Given the description of an element on the screen output the (x, y) to click on. 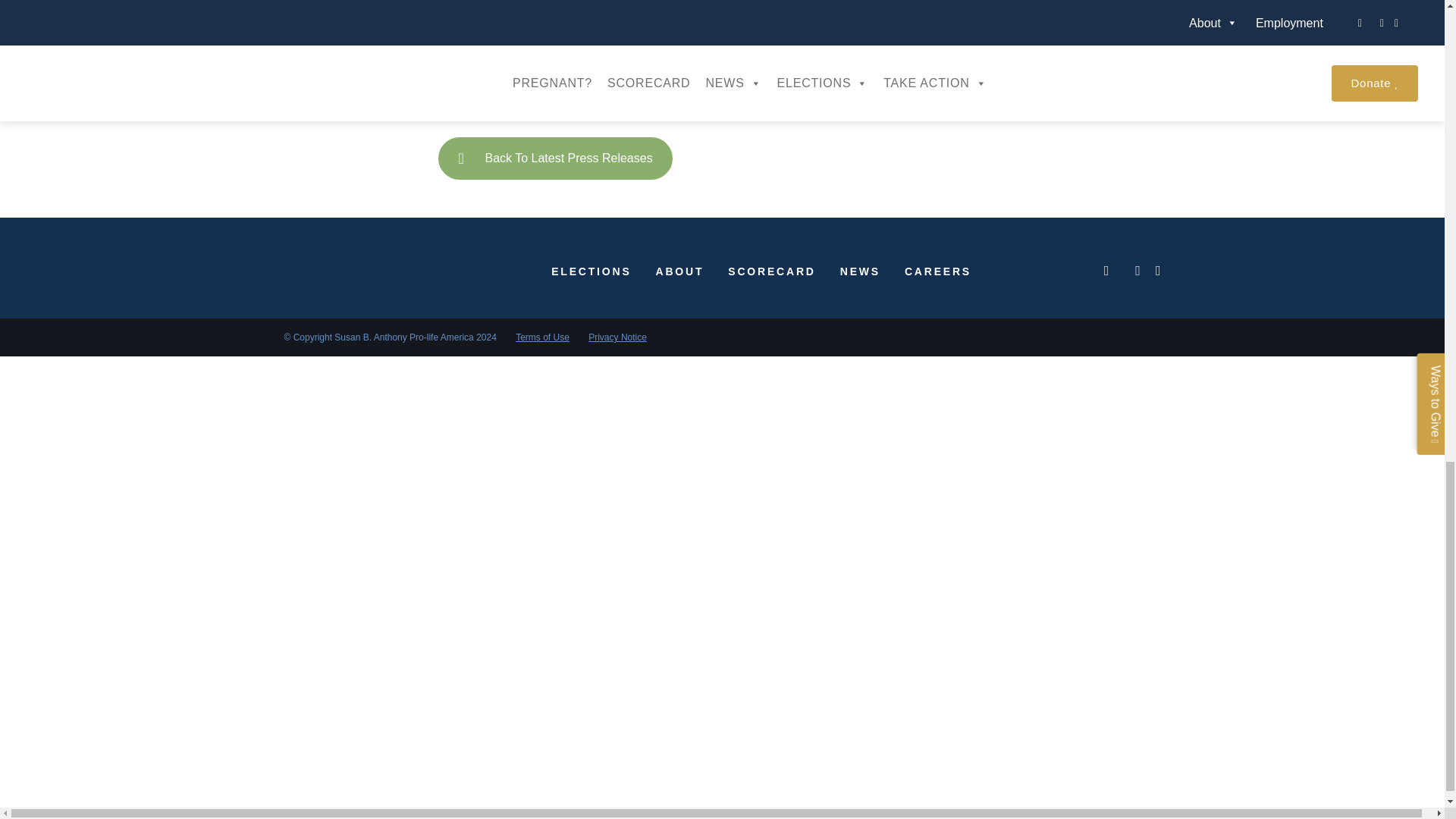
Send over email (652, 41)
Share on X (572, 41)
Share on Facebook (481, 41)
